Given the description of an element on the screen output the (x, y) to click on. 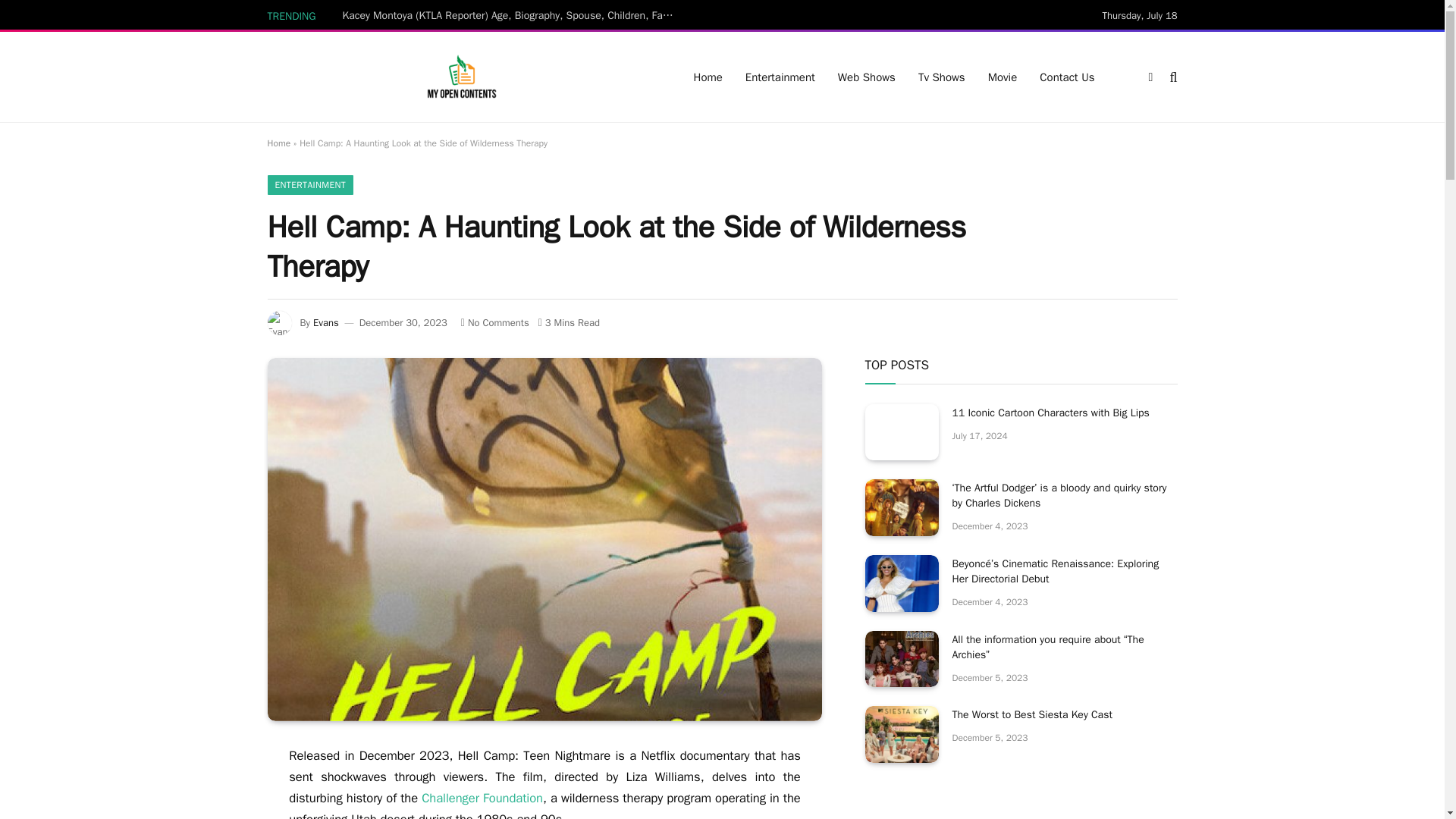
myopencontents (460, 76)
Entertainment (780, 76)
Switch to Dark Design - easier on eyes. (1149, 77)
ENTERTAINMENT (309, 184)
Posts by Evans (326, 322)
Web Shows (867, 76)
Home (277, 143)
Evans (326, 322)
